Given the description of an element on the screen output the (x, y) to click on. 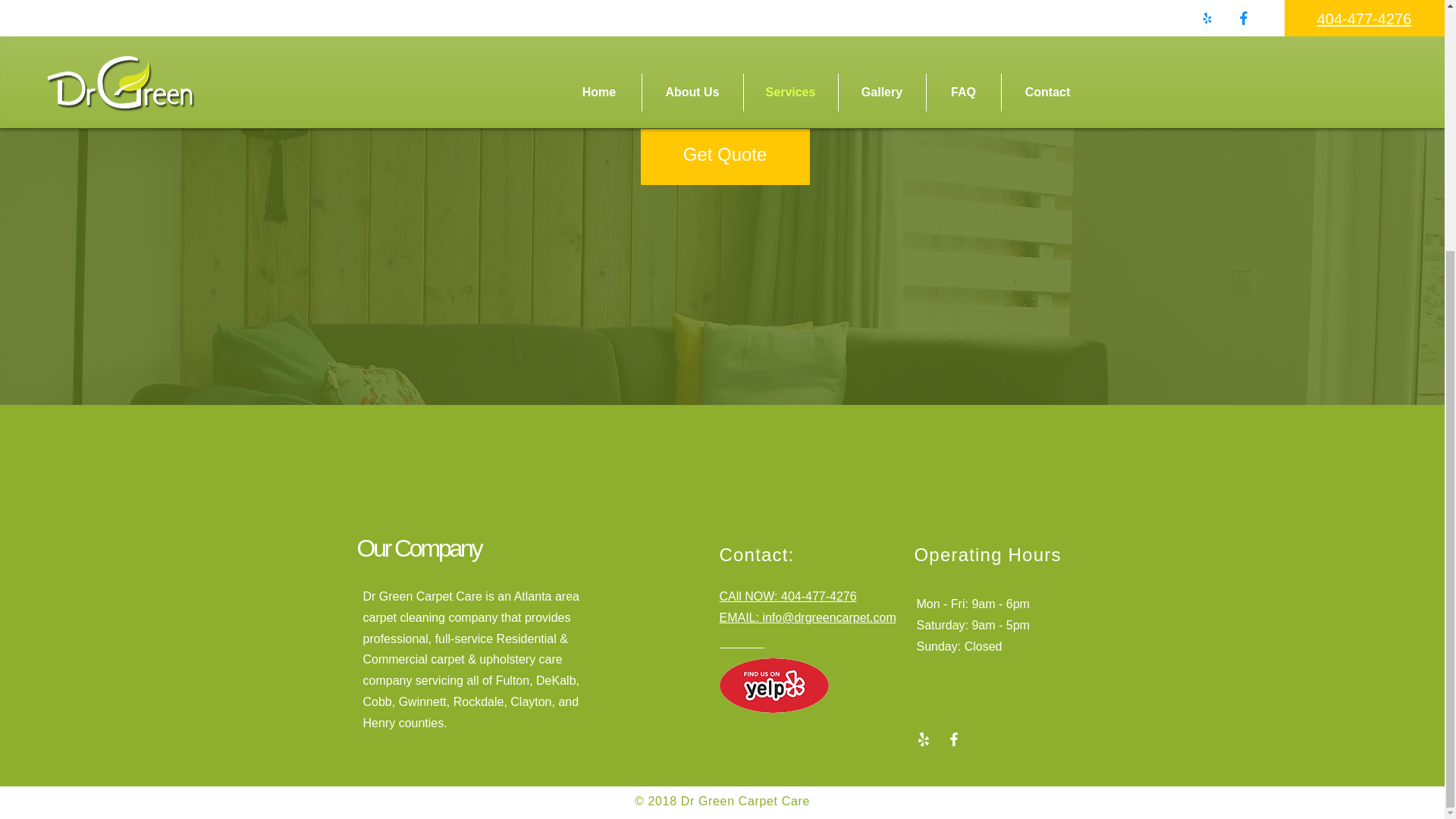
Get Quote (724, 154)
CAll NOW: 404-477-4276 (787, 595)
